Given the description of an element on the screen output the (x, y) to click on. 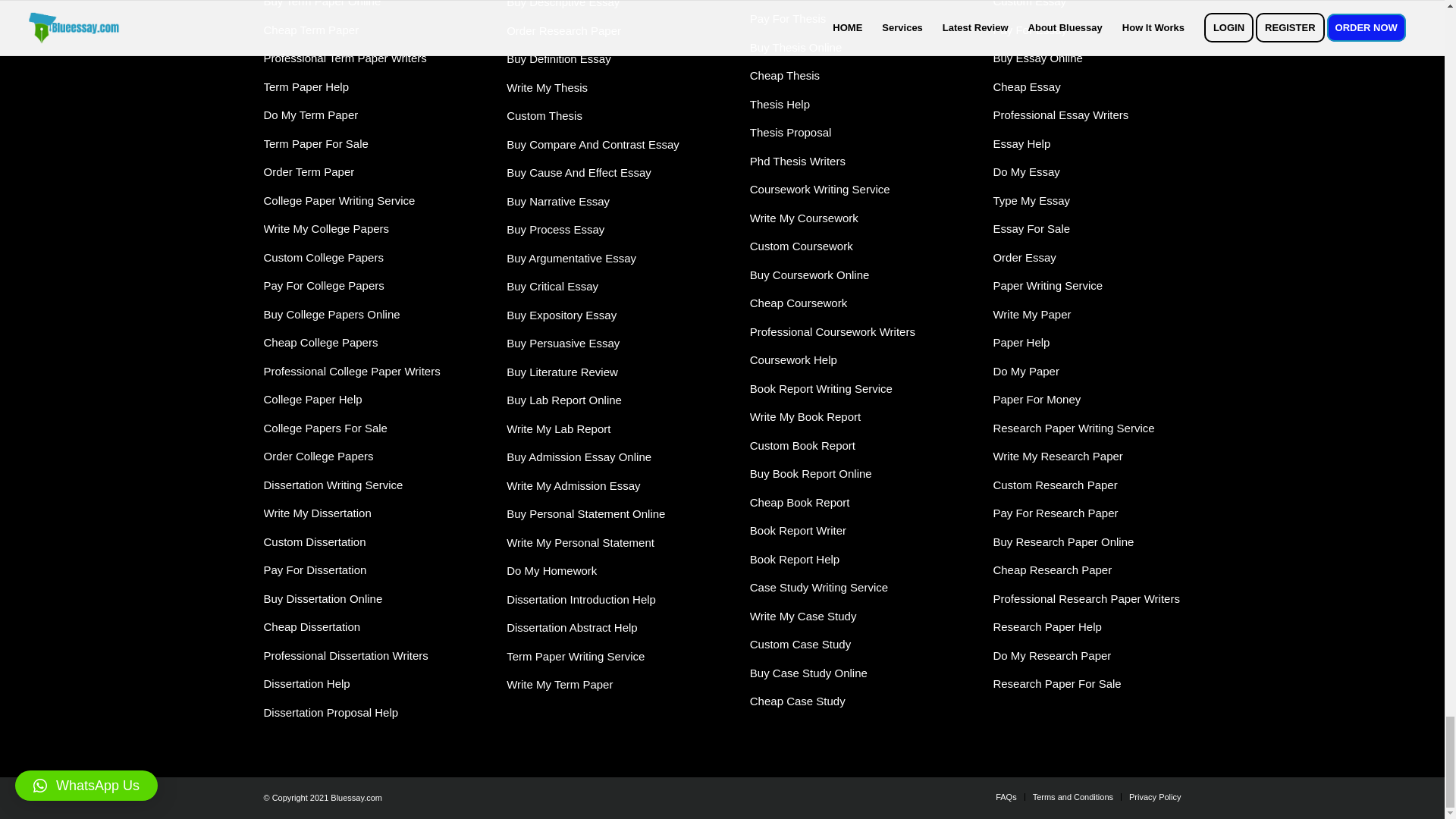
Do My Term Paper (310, 114)
Professional Term Paper Writers (344, 57)
Term Paper For Sale (315, 143)
Term Paper Help (306, 86)
Buy Term Paper Online (322, 3)
Cheap Term Paper (311, 29)
